Given the description of an element on the screen output the (x, y) to click on. 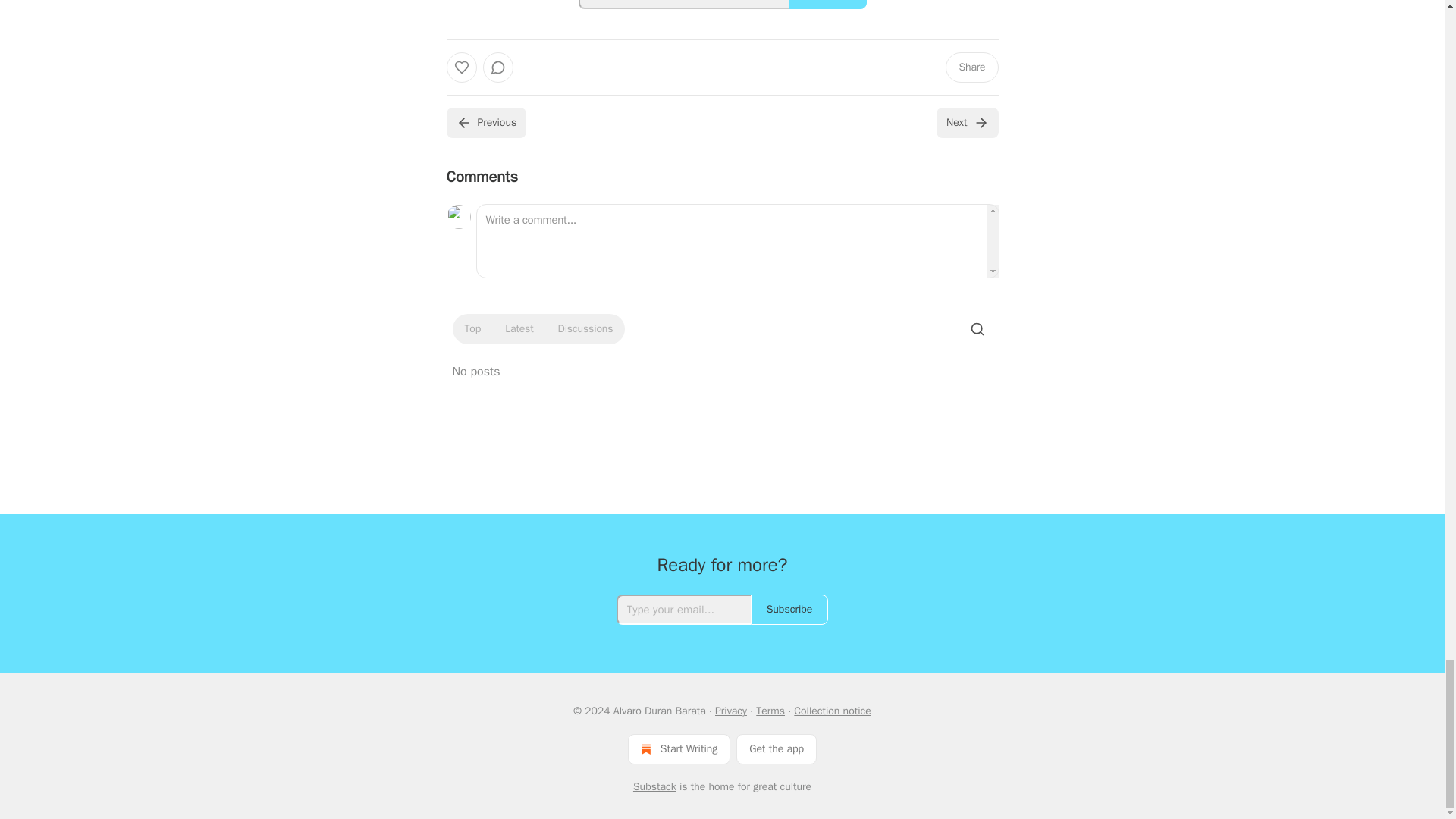
Top (471, 328)
Subscribe (827, 4)
Next (966, 122)
Previous (485, 122)
Share (970, 67)
